Given the description of an element on the screen output the (x, y) to click on. 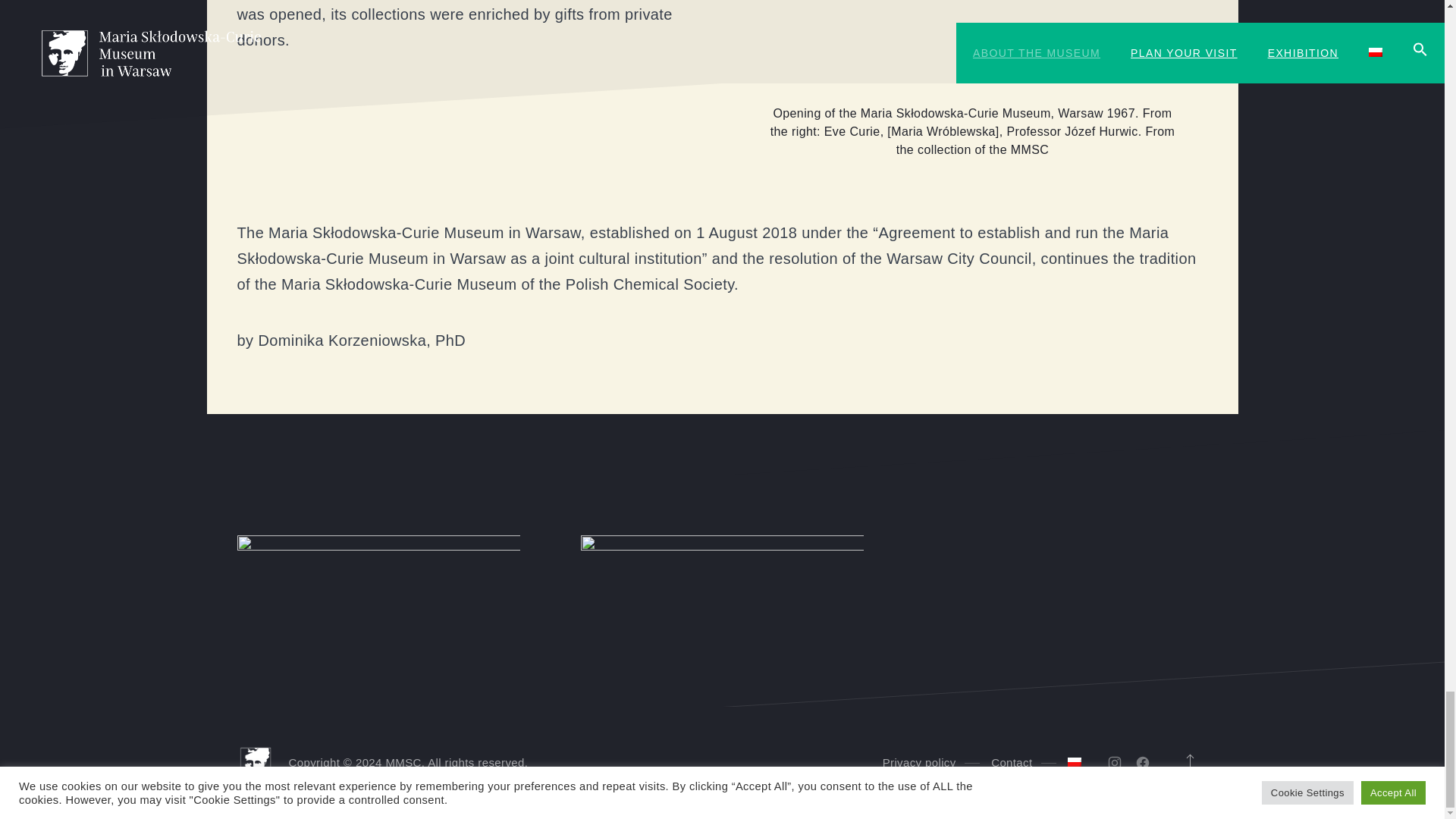
Back to Top (1188, 762)
MMSC (402, 762)
Privacy policy (919, 762)
Contact (1011, 762)
Witaj w domu! (402, 762)
